Given the description of an element on the screen output the (x, y) to click on. 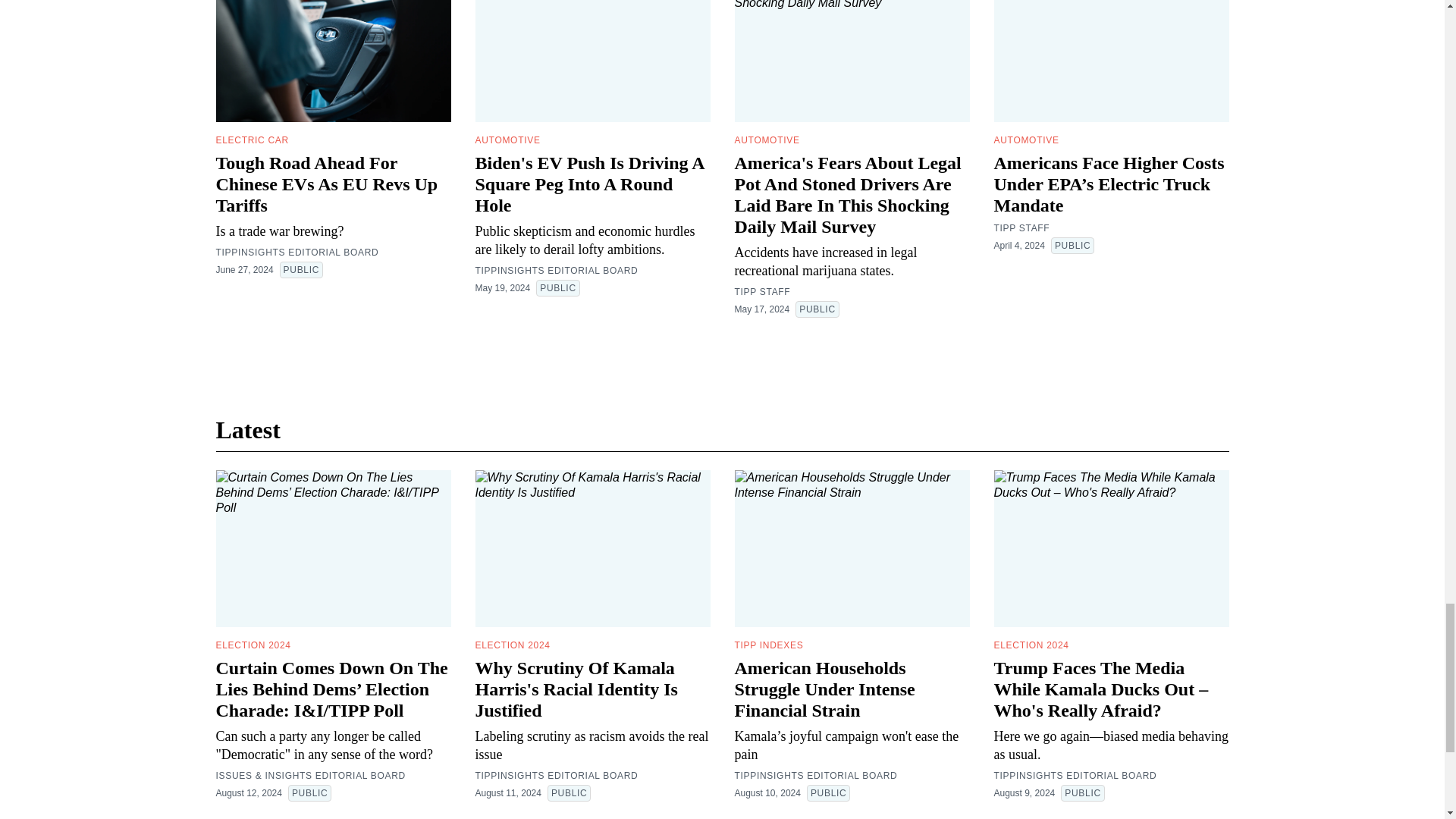
TIPPINSIGHTS EDITORIAL BOARD (296, 252)
ELECTRIC CAR (251, 140)
Tough Road Ahead For Chinese EVs As EU Revs Up Tariffs (326, 184)
AUTOMOTIVE (507, 140)
